Given the description of an element on the screen output the (x, y) to click on. 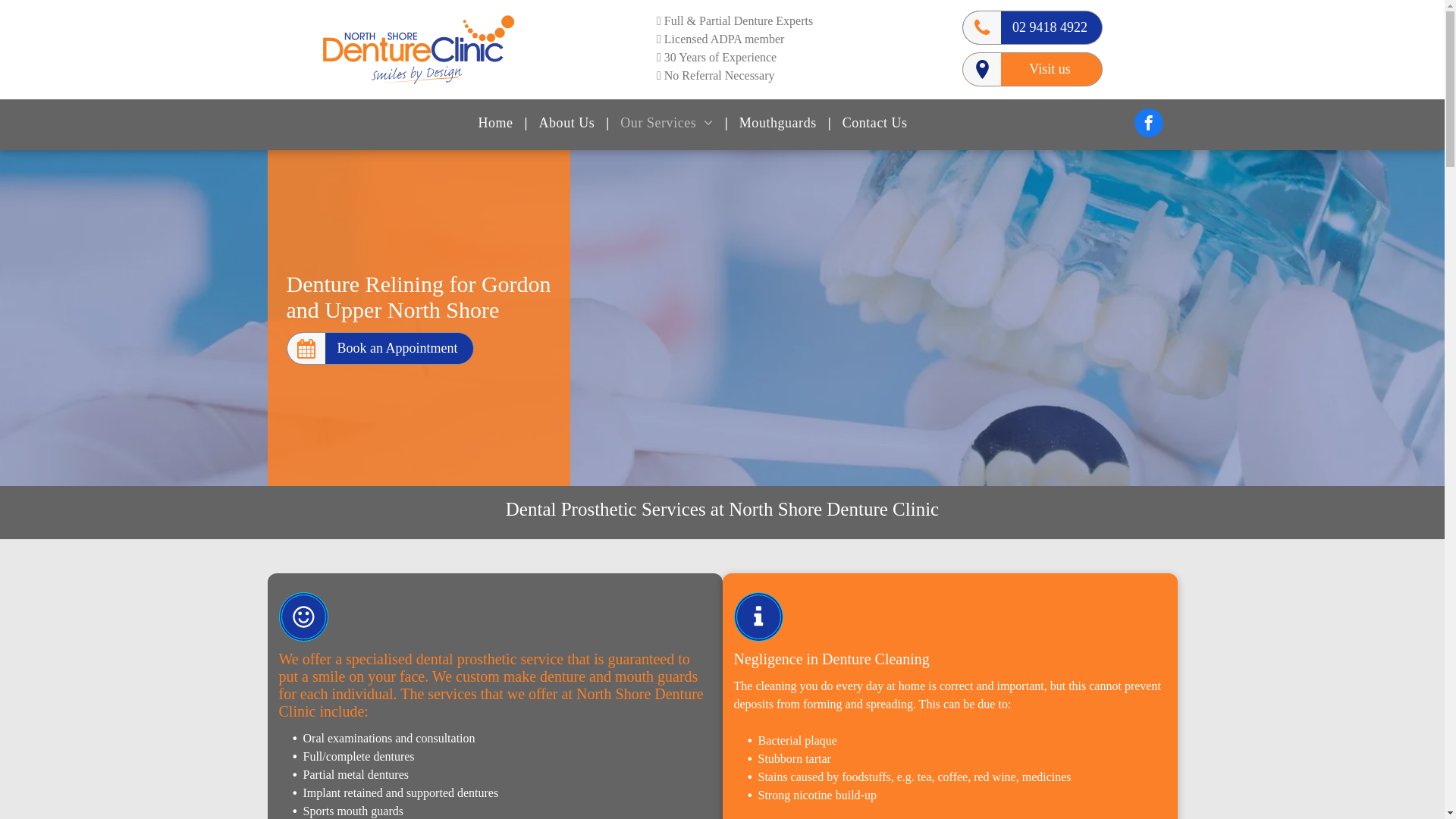
Mouthguards Element type: text (778, 122)
Our Services Element type: text (666, 122)
About Us Element type: text (566, 122)
Book an Appointment Element type: text (379, 348)
Contact Us Element type: text (875, 122)
Home Element type: text (495, 122)
02 9418 4922 Element type: text (1032, 27)
Visit us Element type: text (1032, 69)
